Given the description of an element on the screen output the (x, y) to click on. 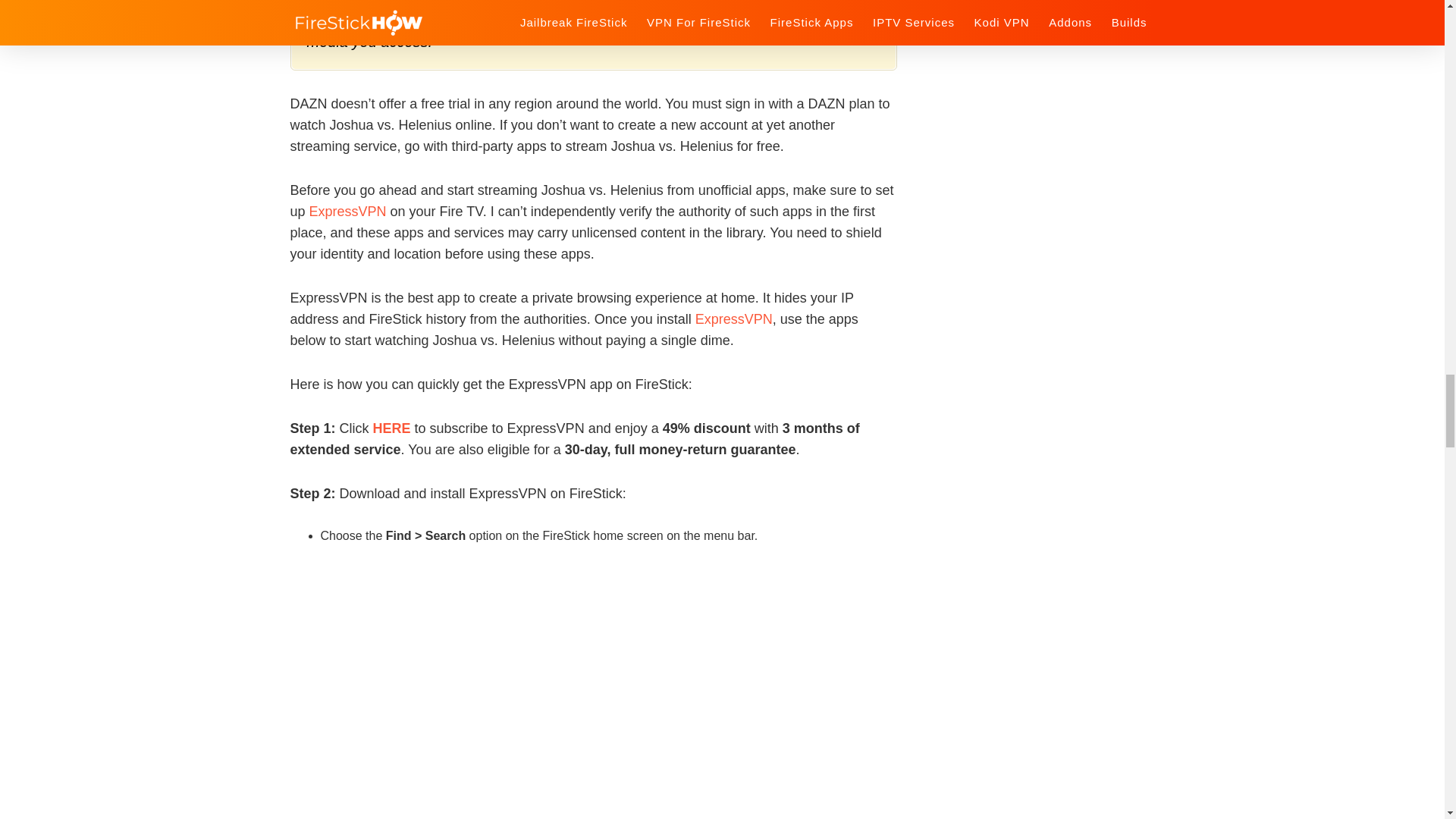
ExpressVPN (347, 211)
ExpressVPN (734, 319)
HERE (391, 427)
